Given the description of an element on the screen output the (x, y) to click on. 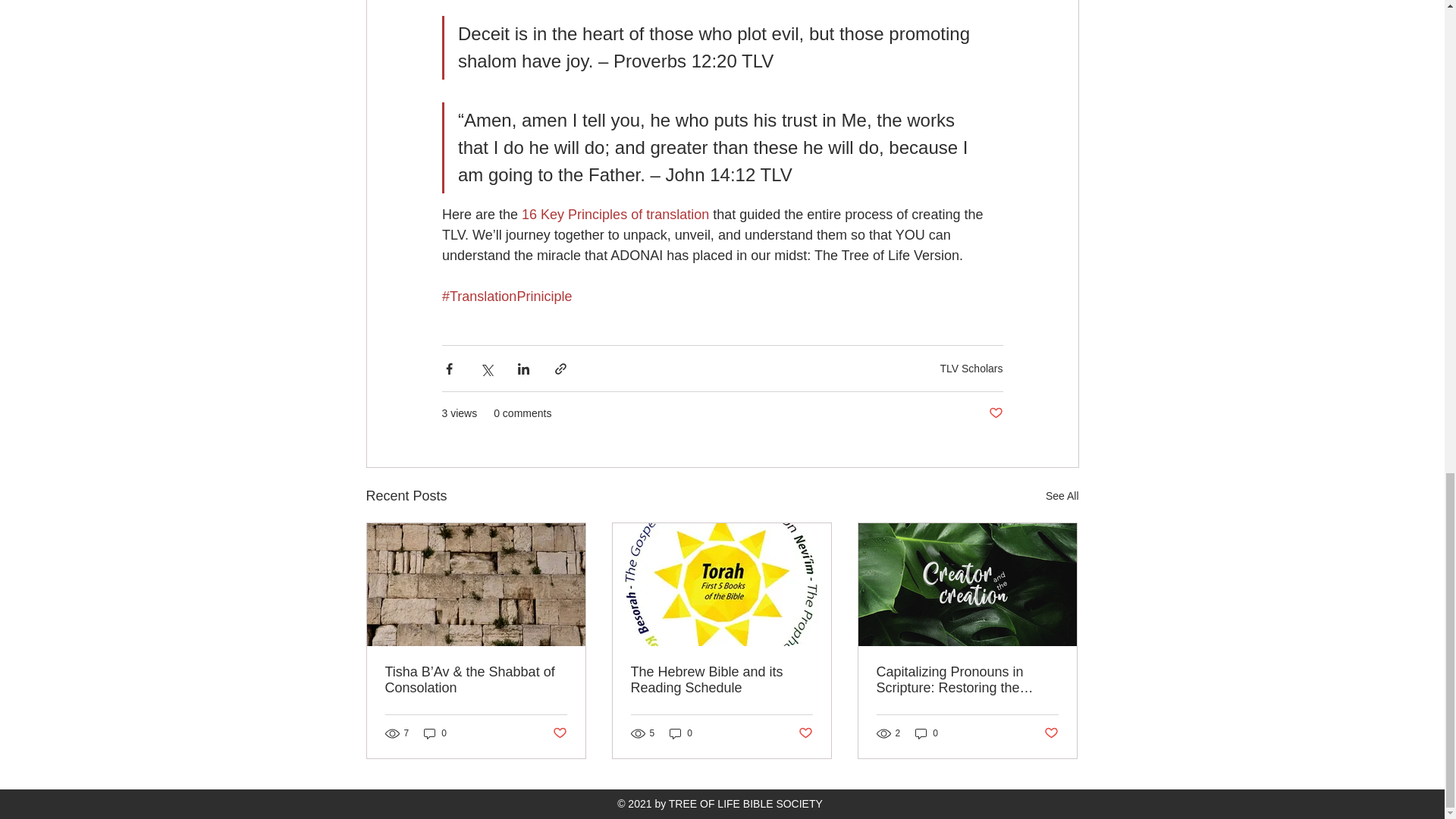
The Hebrew Bible and its Reading Schedule (721, 680)
0 (926, 733)
Post not marked as liked (1050, 732)
See All (1061, 495)
TLV Scholars (971, 368)
0 (681, 733)
16 Key Principles of translation (615, 214)
Post not marked as liked (995, 413)
Post not marked as liked (804, 732)
